Given the description of an element on the screen output the (x, y) to click on. 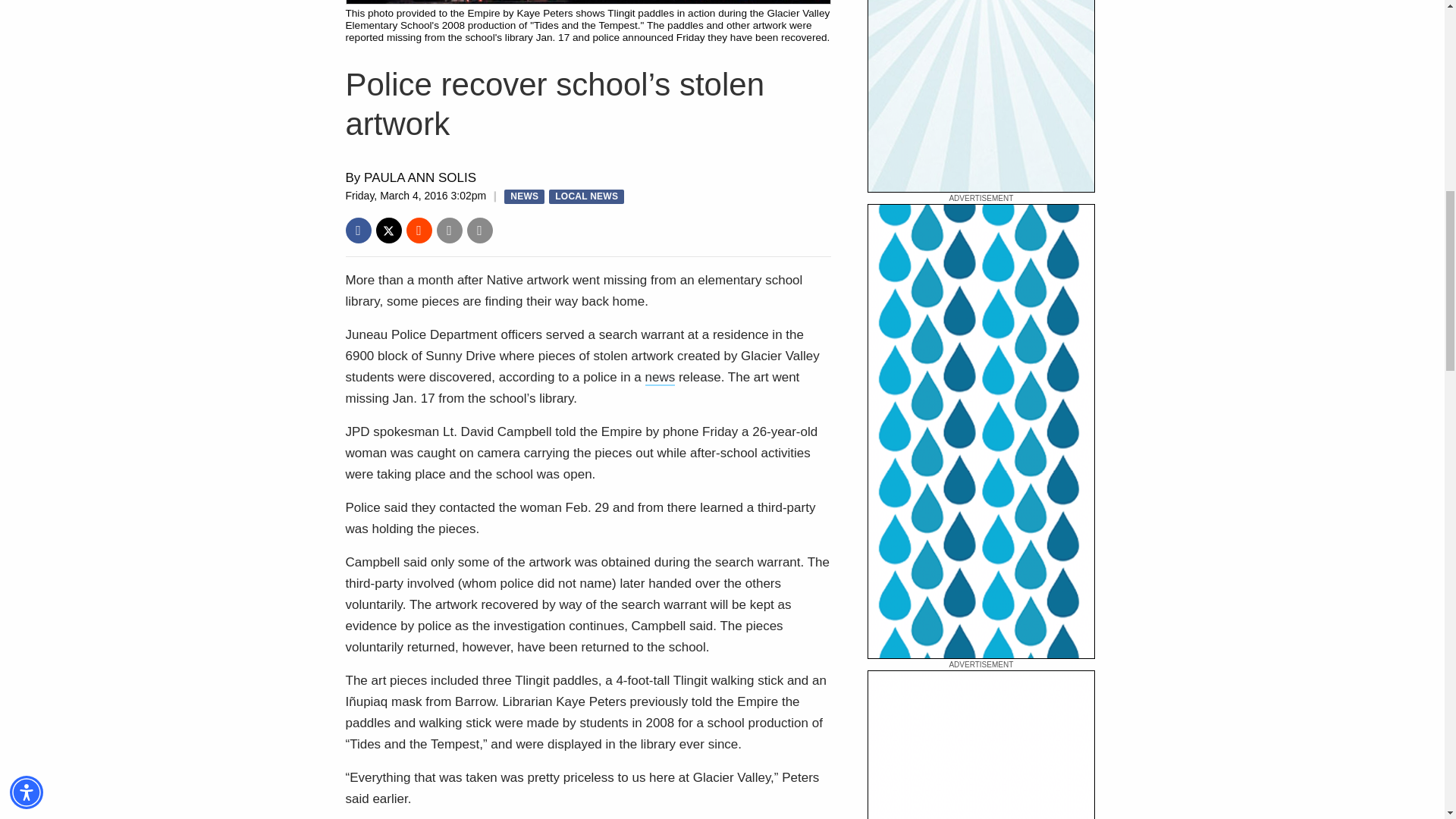
Post to Twitter (388, 230)
Email story (449, 230)
Print story (480, 230)
3rd party ad content (980, 96)
Post to Facebook (358, 230)
Post to Reddit (419, 230)
